Given the description of an element on the screen output the (x, y) to click on. 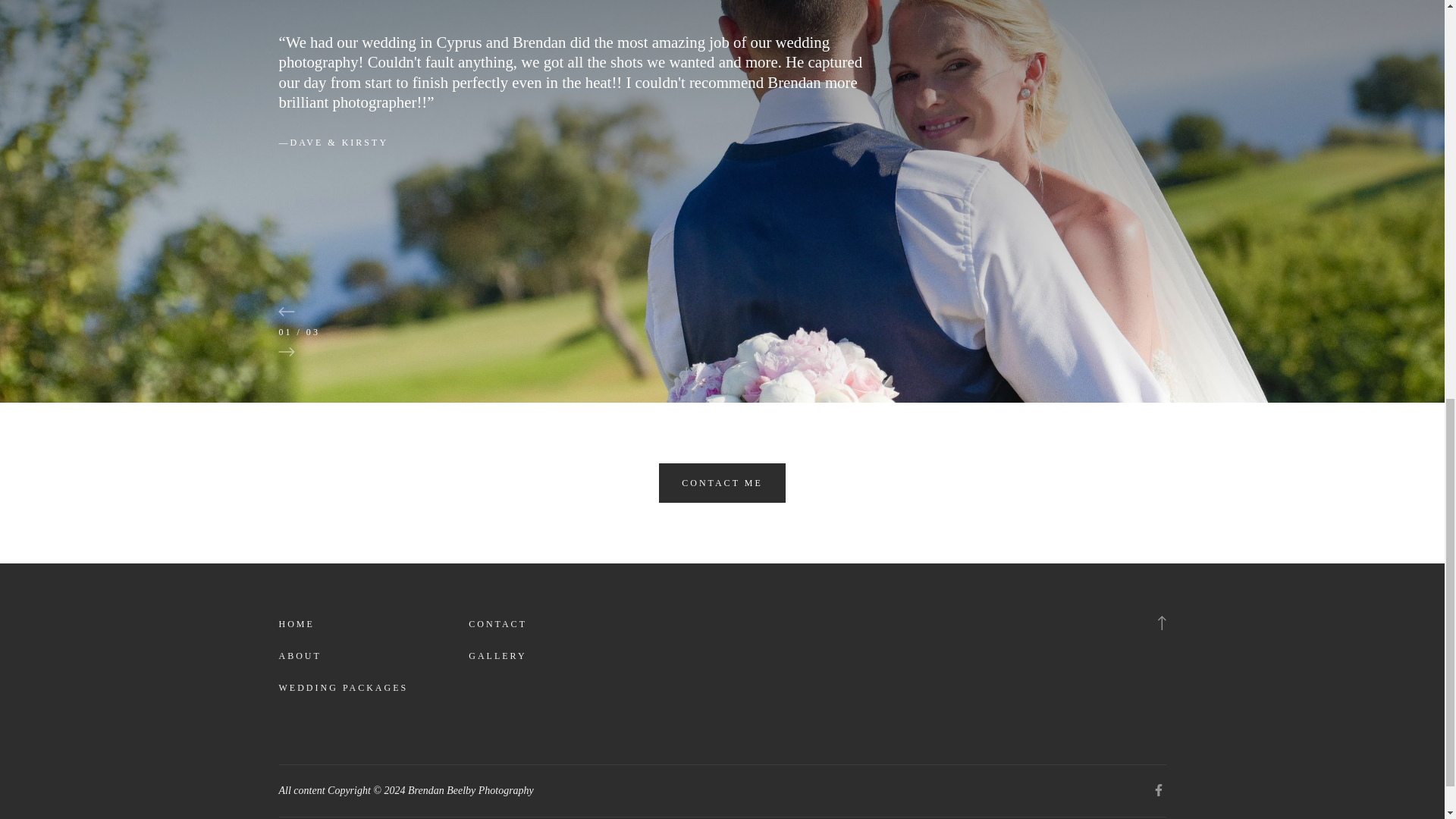
HOME (296, 624)
CONTACT ME (722, 482)
CONTACT (497, 624)
ABOUT (300, 656)
GALLERY (496, 656)
WEDDING PACKAGES (344, 688)
